Given the description of an element on the screen output the (x, y) to click on. 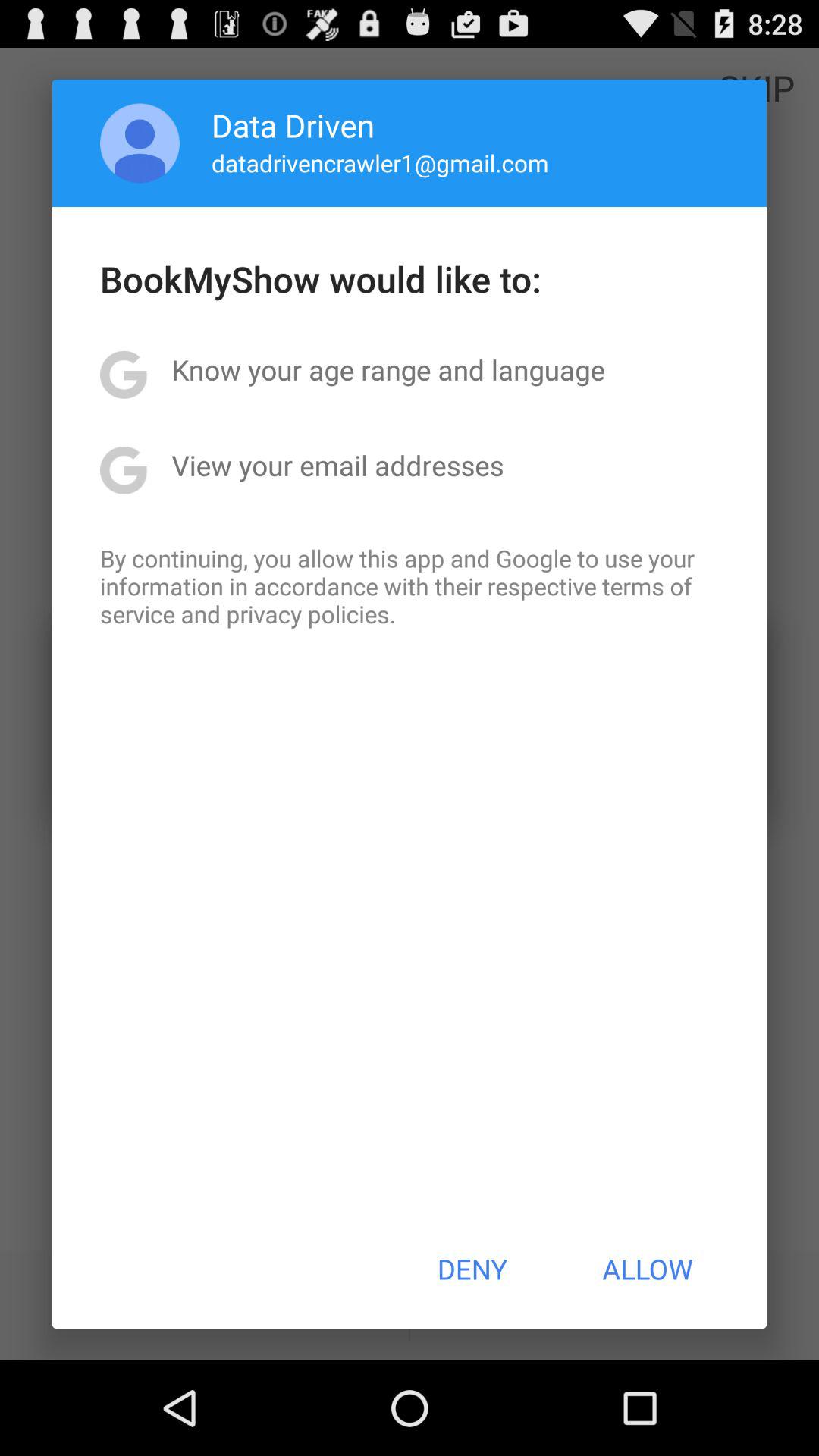
choose the icon to the left of allow item (471, 1268)
